Given the description of an element on the screen output the (x, y) to click on. 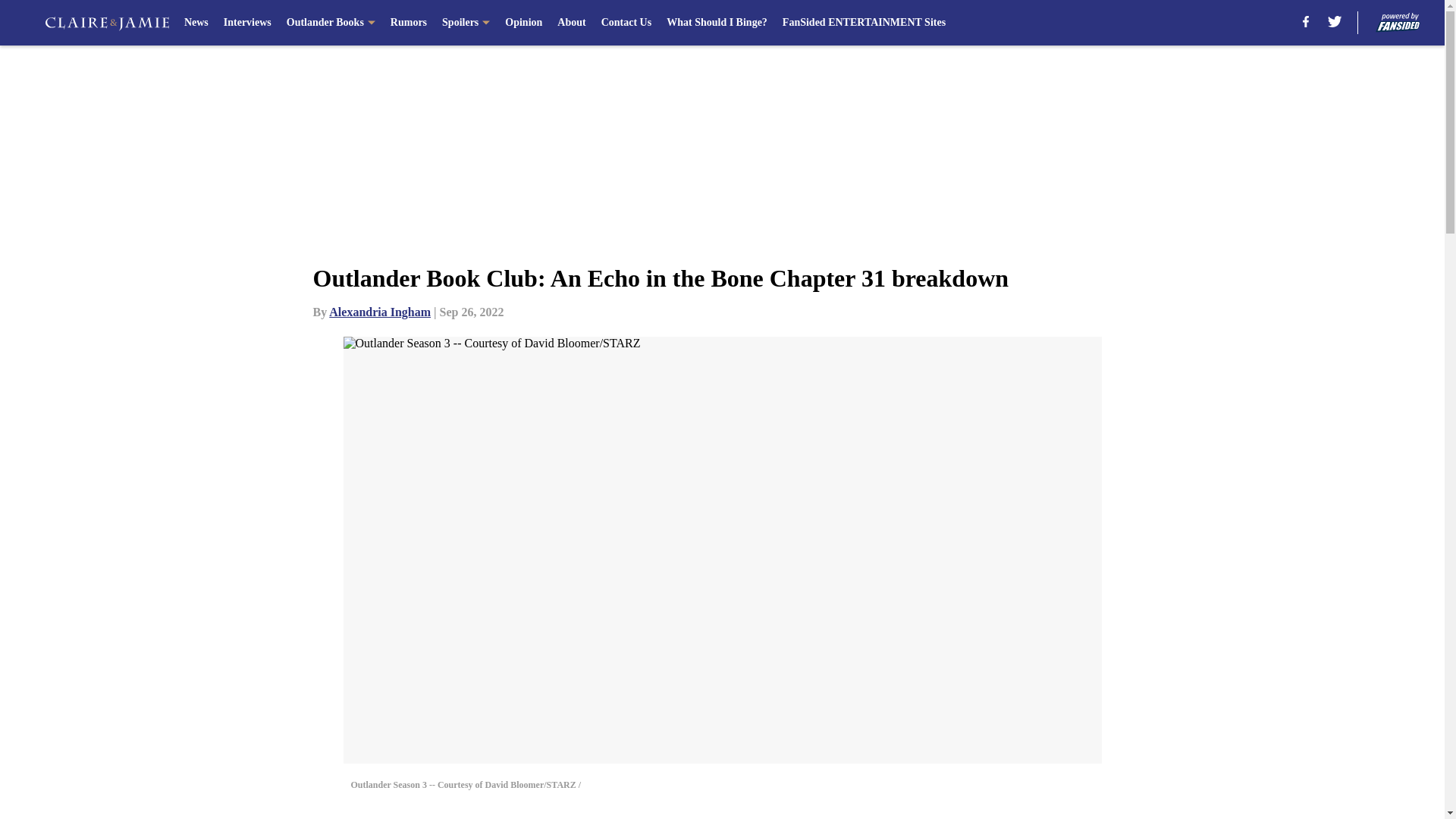
Interviews (247, 22)
About (571, 22)
Contact Us (626, 22)
News (196, 22)
What Should I Binge? (716, 22)
Alexandria Ingham (379, 311)
Opinion (523, 22)
FanSided ENTERTAINMENT Sites (863, 22)
Rumors (408, 22)
